Given the description of an element on the screen output the (x, y) to click on. 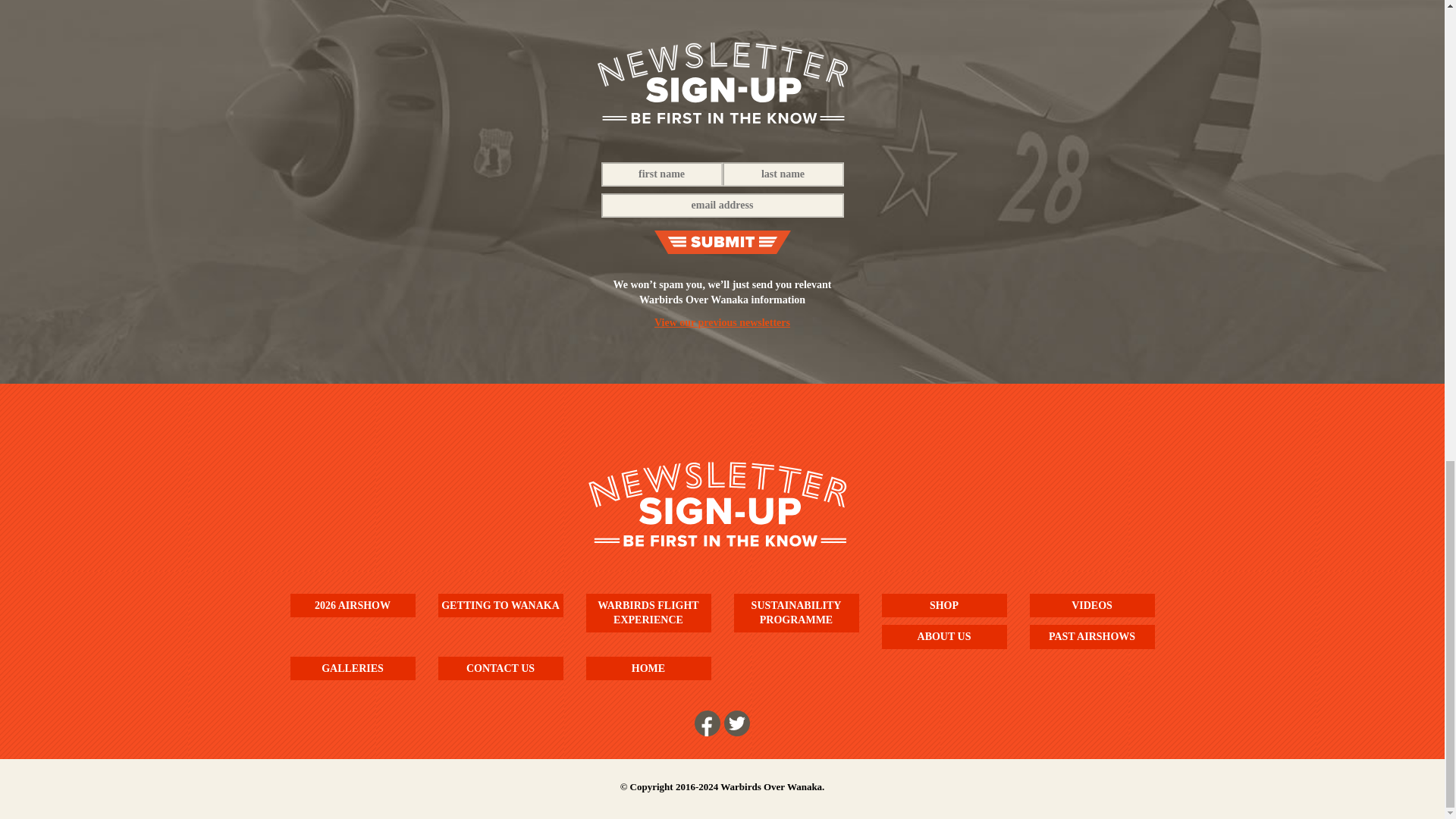
Follow us on Facebook (707, 723)
Newsletter Signup - Be the first in the know (721, 82)
Follow us on Twitter (736, 723)
